Given the description of an element on the screen output the (x, y) to click on. 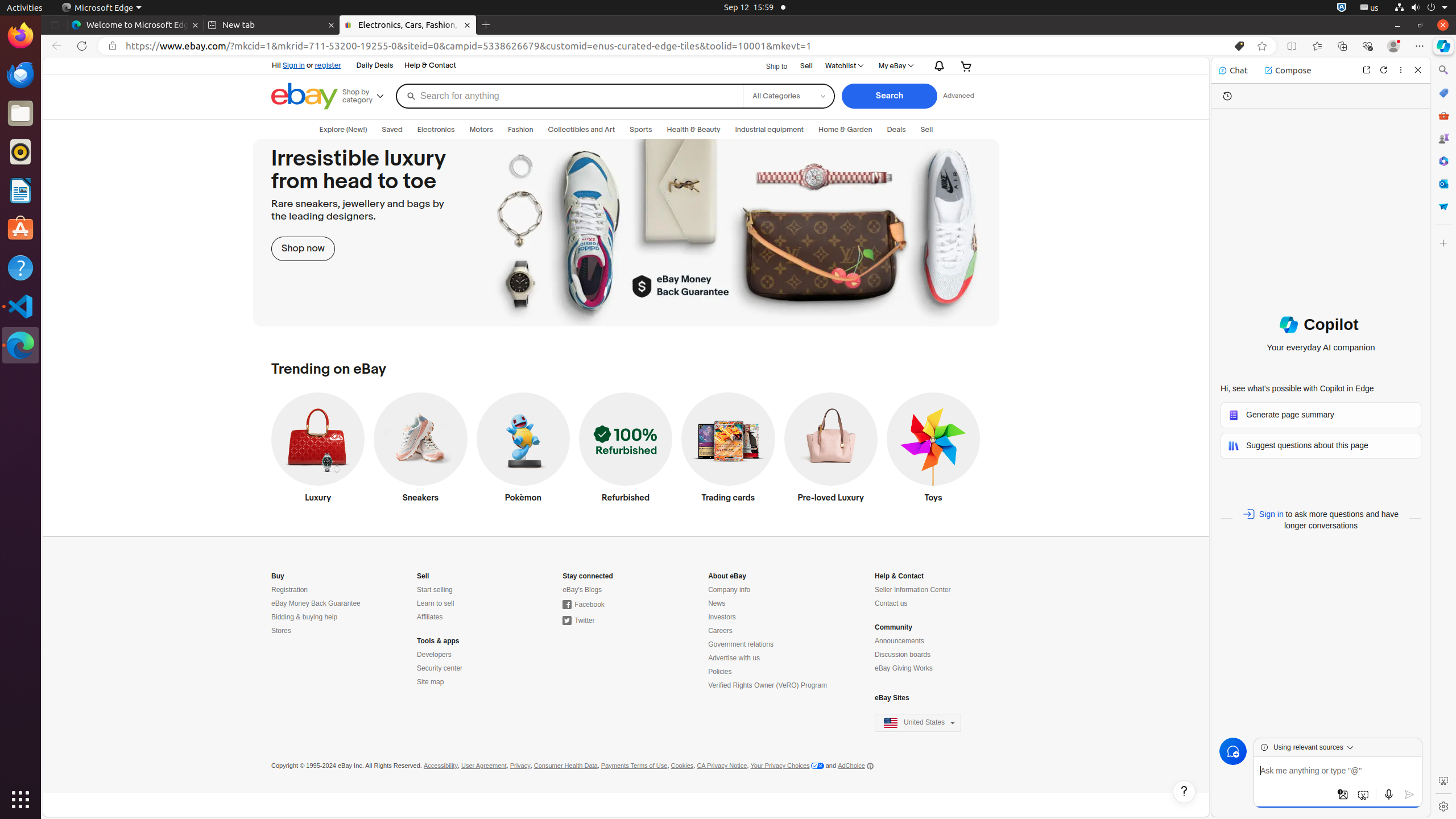
My eBay Element type: link (894, 65)
Collections Element type: push-button (1341, 45)
Buy Element type: link (277, 576)
About eBay Element type: link (727, 576)
Sports Element type: link (640, 129)
